Given the description of an element on the screen output the (x, y) to click on. 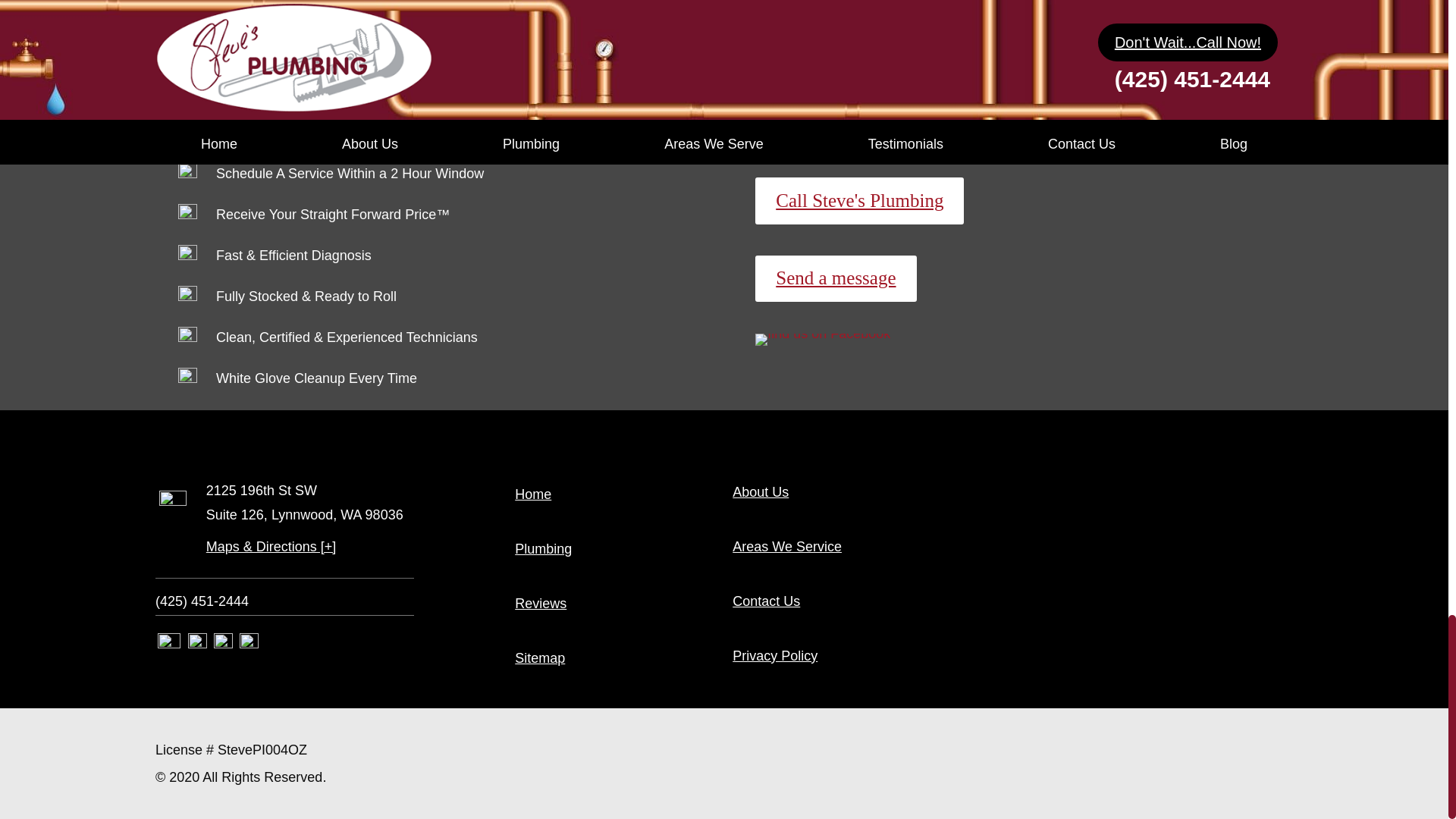
Google Map (249, 643)
Facebook Page (223, 643)
BBB Profile (196, 643)
